Given the description of an element on the screen output the (x, y) to click on. 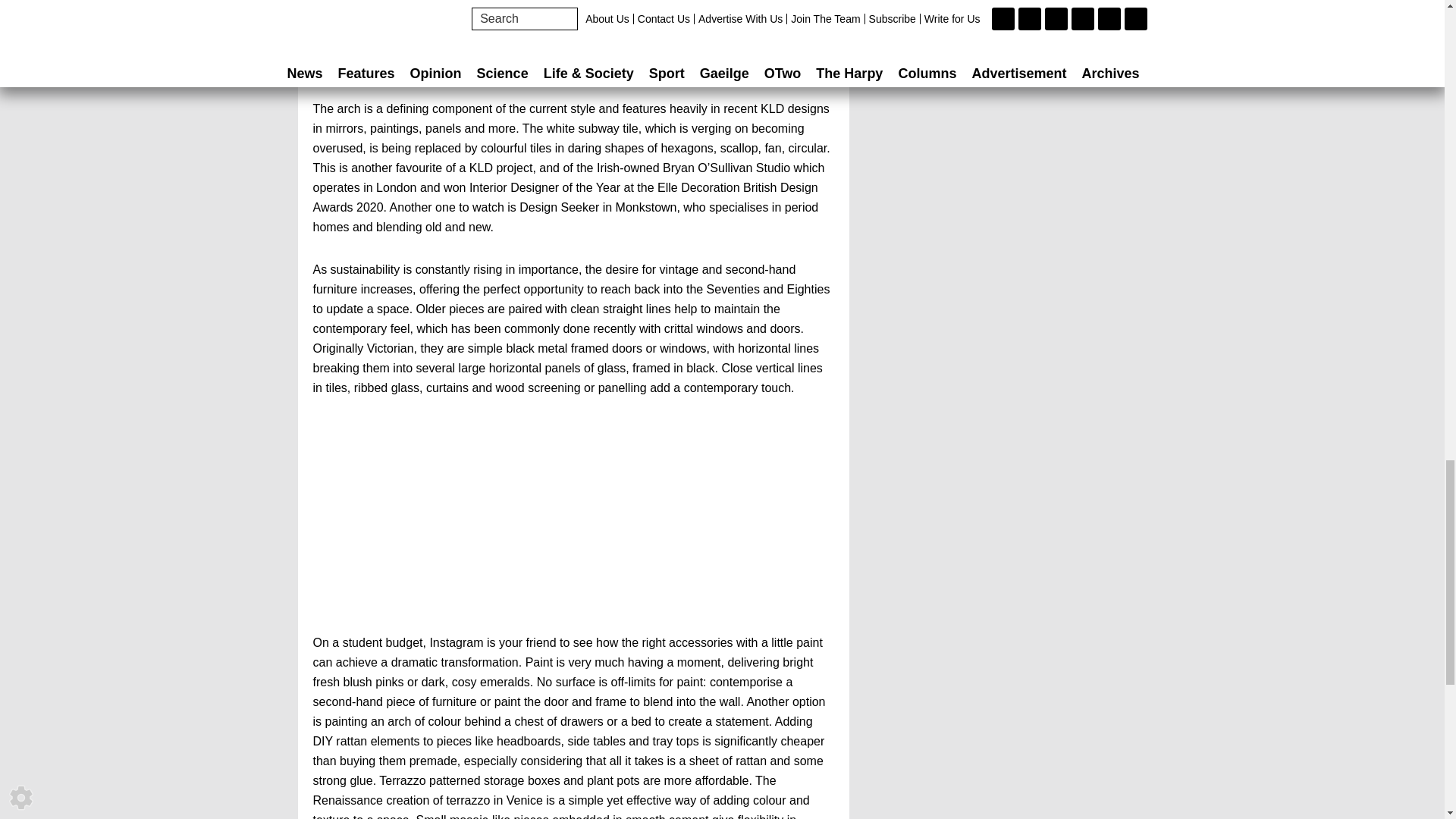
Advertisement (572, 526)
